Given the description of an element on the screen output the (x, y) to click on. 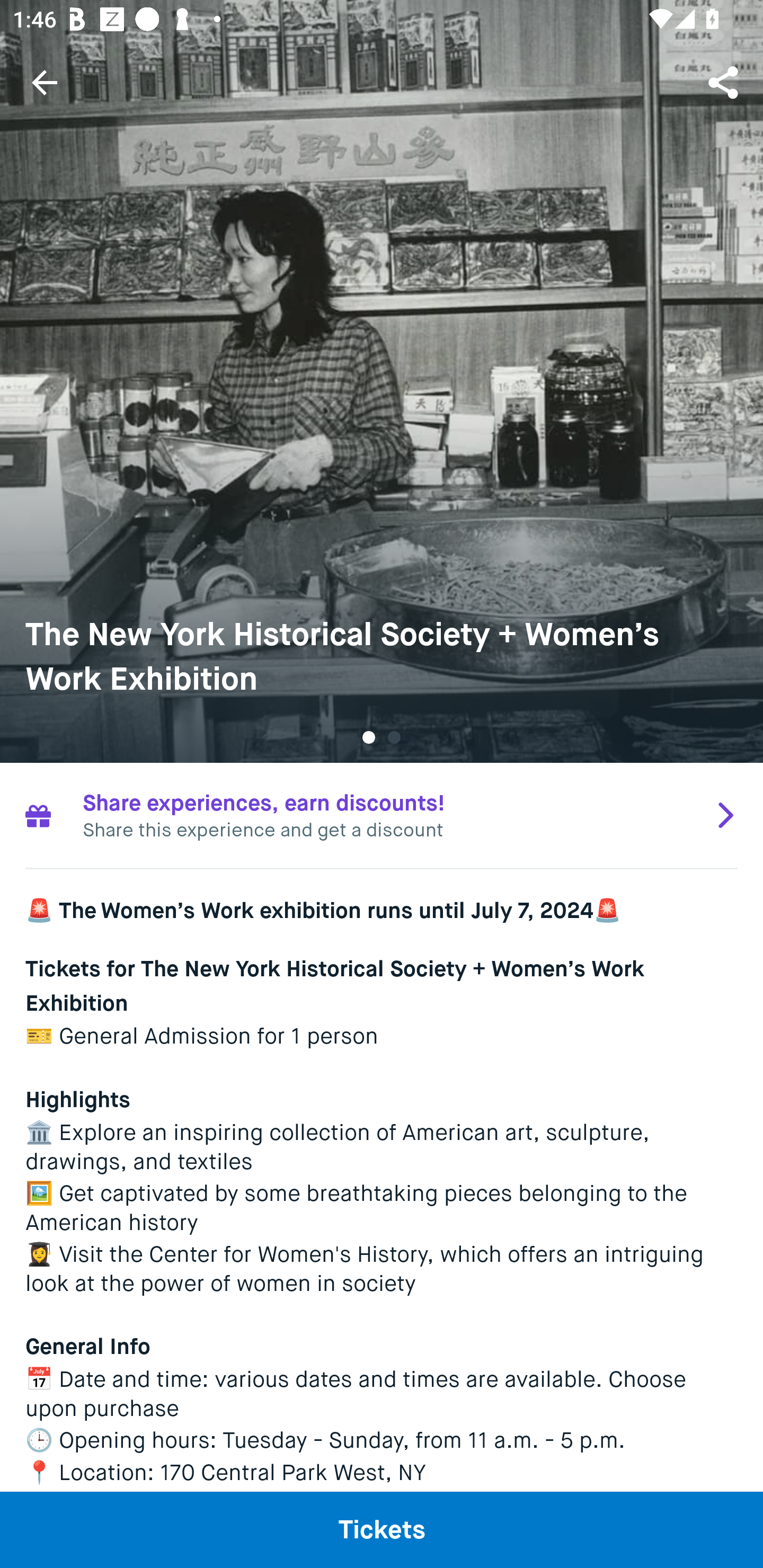
Navigate up (44, 82)
Share (724, 81)
Tickets (381, 1529)
